Given the description of an element on the screen output the (x, y) to click on. 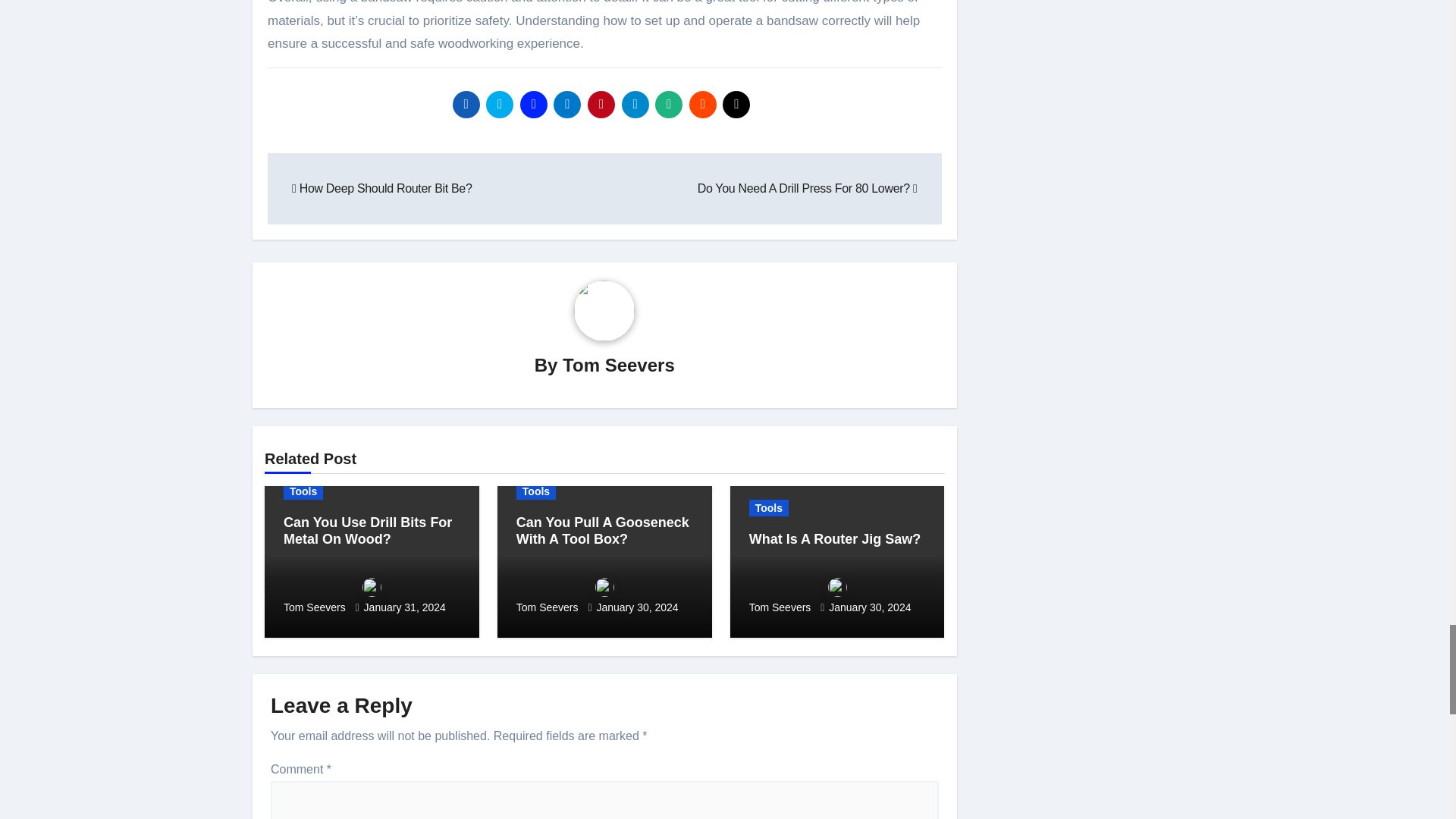
January 31, 2024 (404, 607)
Permalink to: Can You Use Drill Bits For Metal On Wood? (367, 531)
Permalink to: What Is A Router Jig Saw? (835, 539)
Can You Use Drill Bits For Metal On Wood? (367, 531)
Tools (303, 491)
Permalink to: Can You Pull A Gooseneck With A Tool Box? (602, 531)
Do You Need A Drill Press For 80 Lower? (807, 187)
How Deep Should Router Bit Be? (381, 187)
Tom Seevers (371, 595)
Tom Seevers (618, 364)
